Given the description of an element on the screen output the (x, y) to click on. 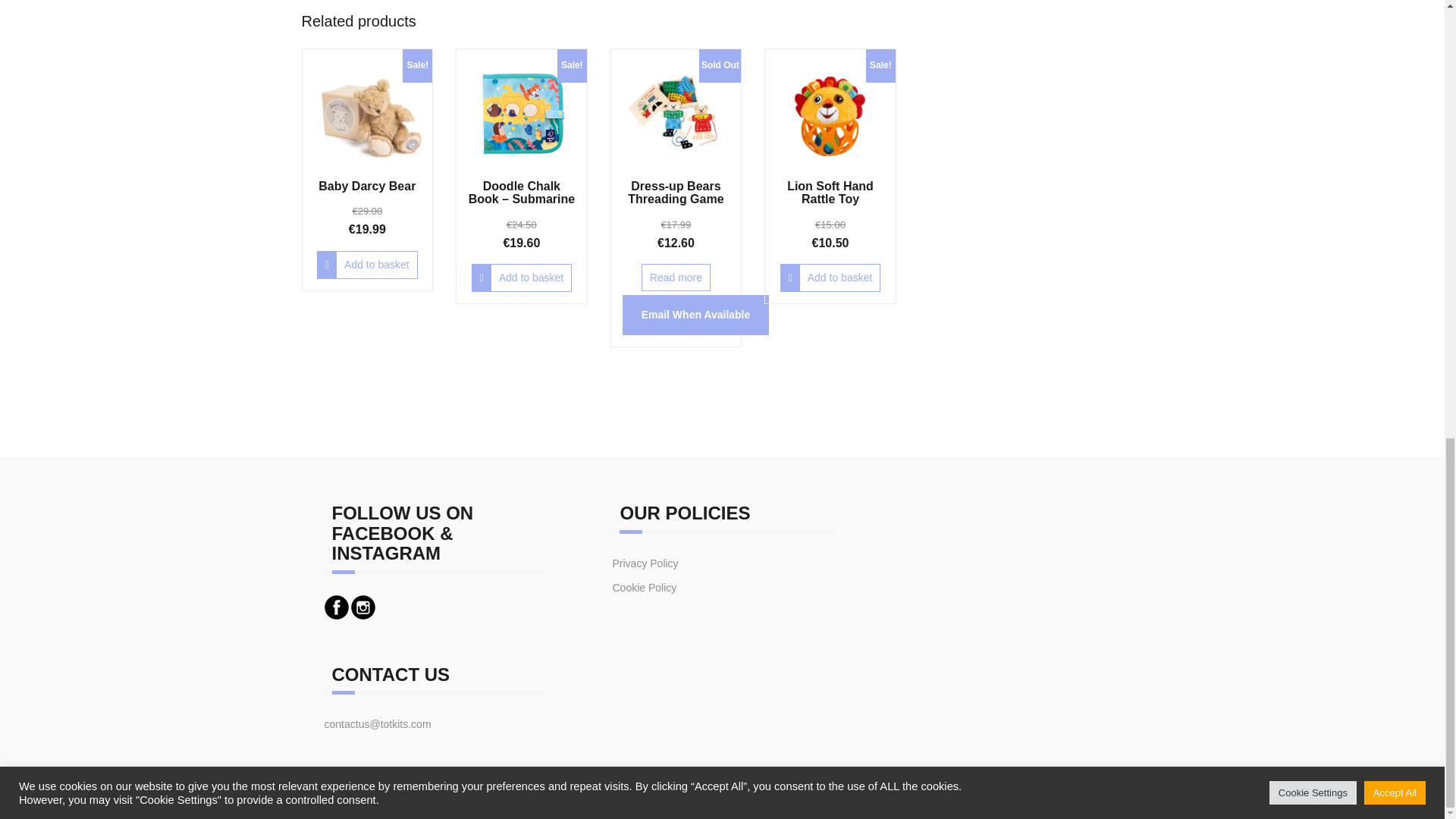
Email When Available (696, 314)
Read more (676, 277)
Add to basket (830, 277)
Add to basket (521, 277)
Email When Available (696, 314)
Add to basket (367, 264)
